Given the description of an element on the screen output the (x, y) to click on. 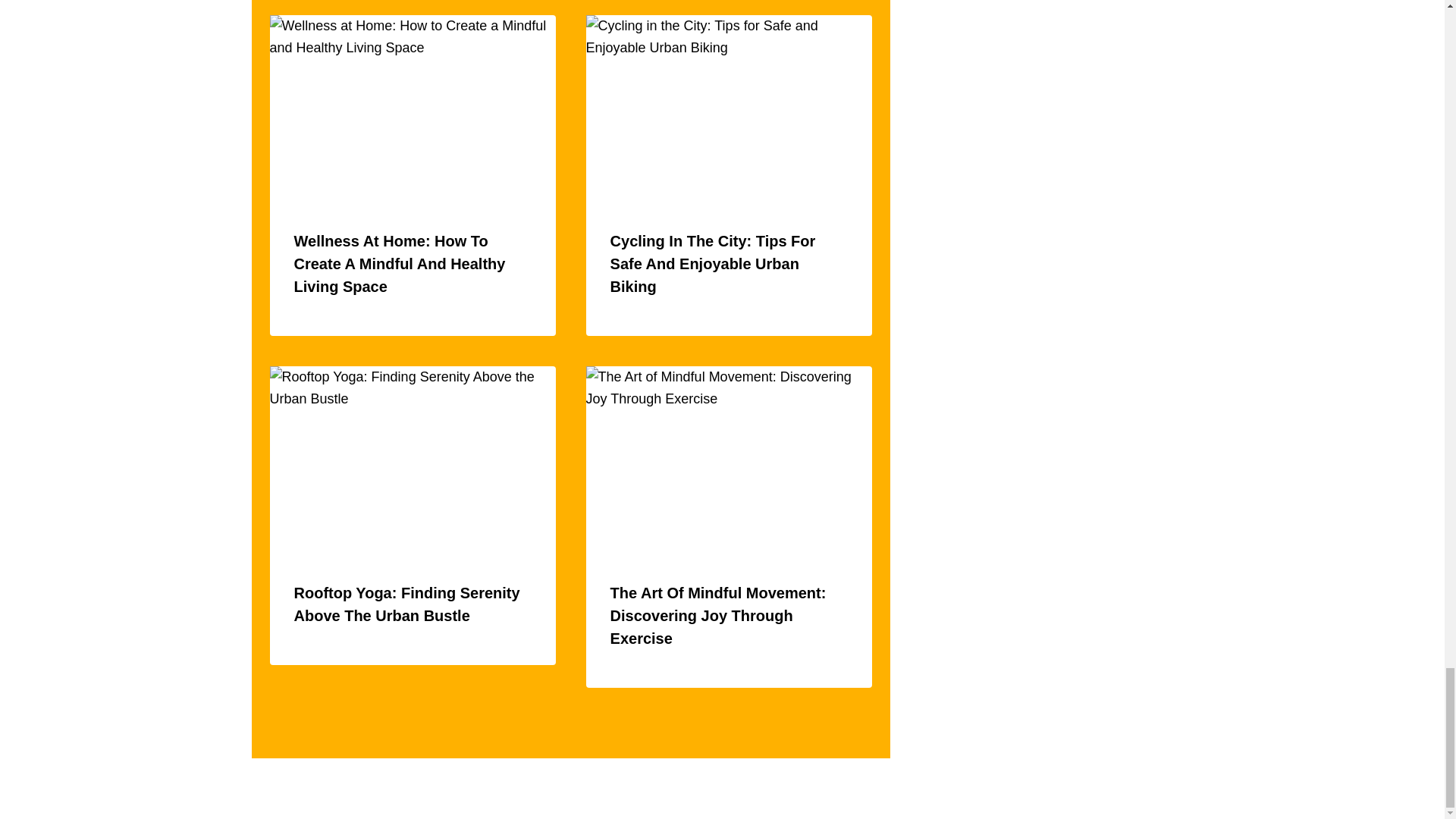
Rooftop Yoga: Finding Serenity Above The Urban Bustle (406, 604)
